Given the description of an element on the screen output the (x, y) to click on. 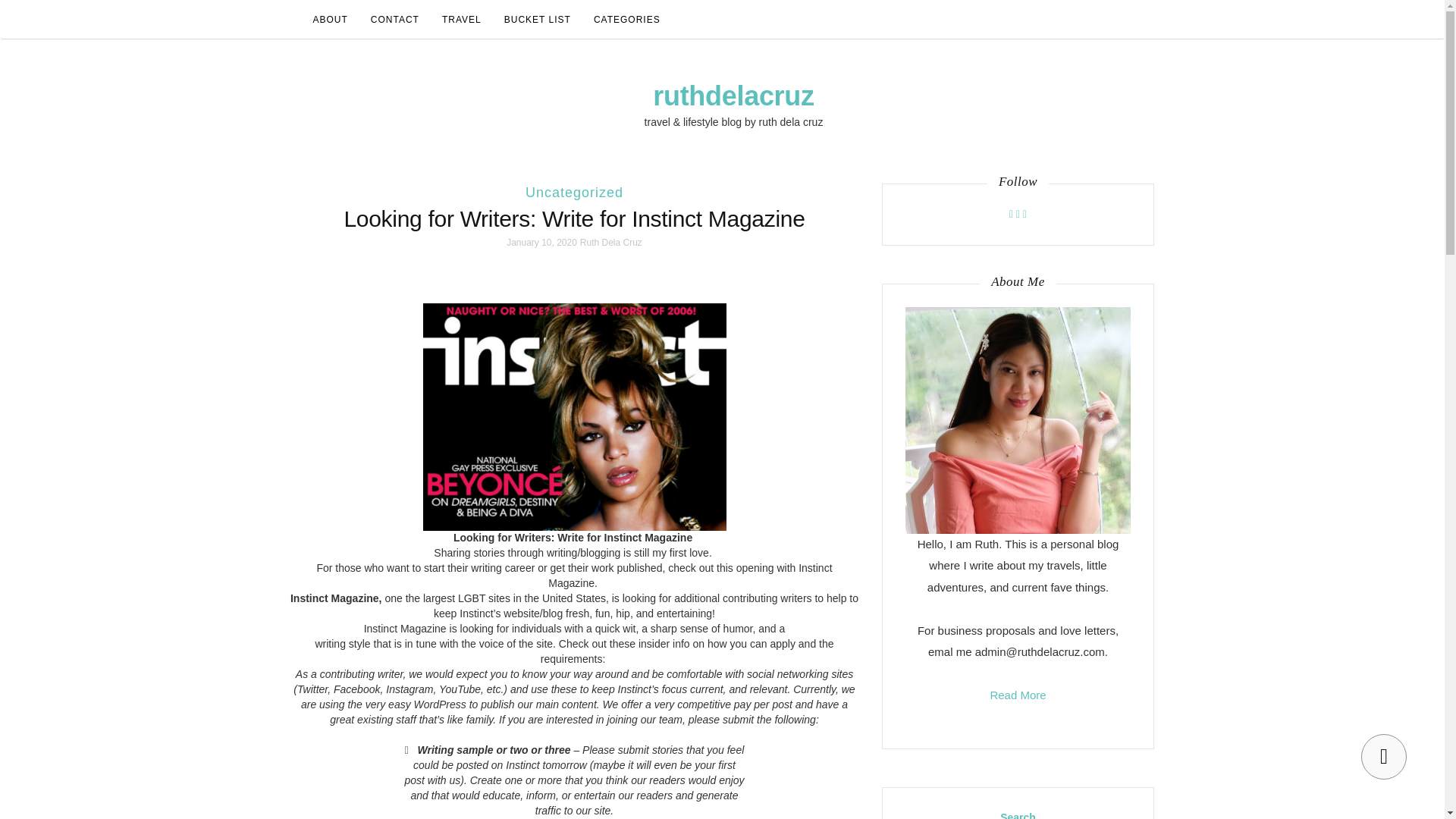
BUCKET LIST (537, 19)
Contact (394, 19)
ruthdelacruz (732, 95)
Travel (461, 19)
About (330, 19)
Bucket List (537, 19)
ABOUT (330, 19)
Categories (626, 19)
CONTACT (394, 19)
Looking for Writers: Write for Instinct Magazine (574, 218)
